Given the description of an element on the screen output the (x, y) to click on. 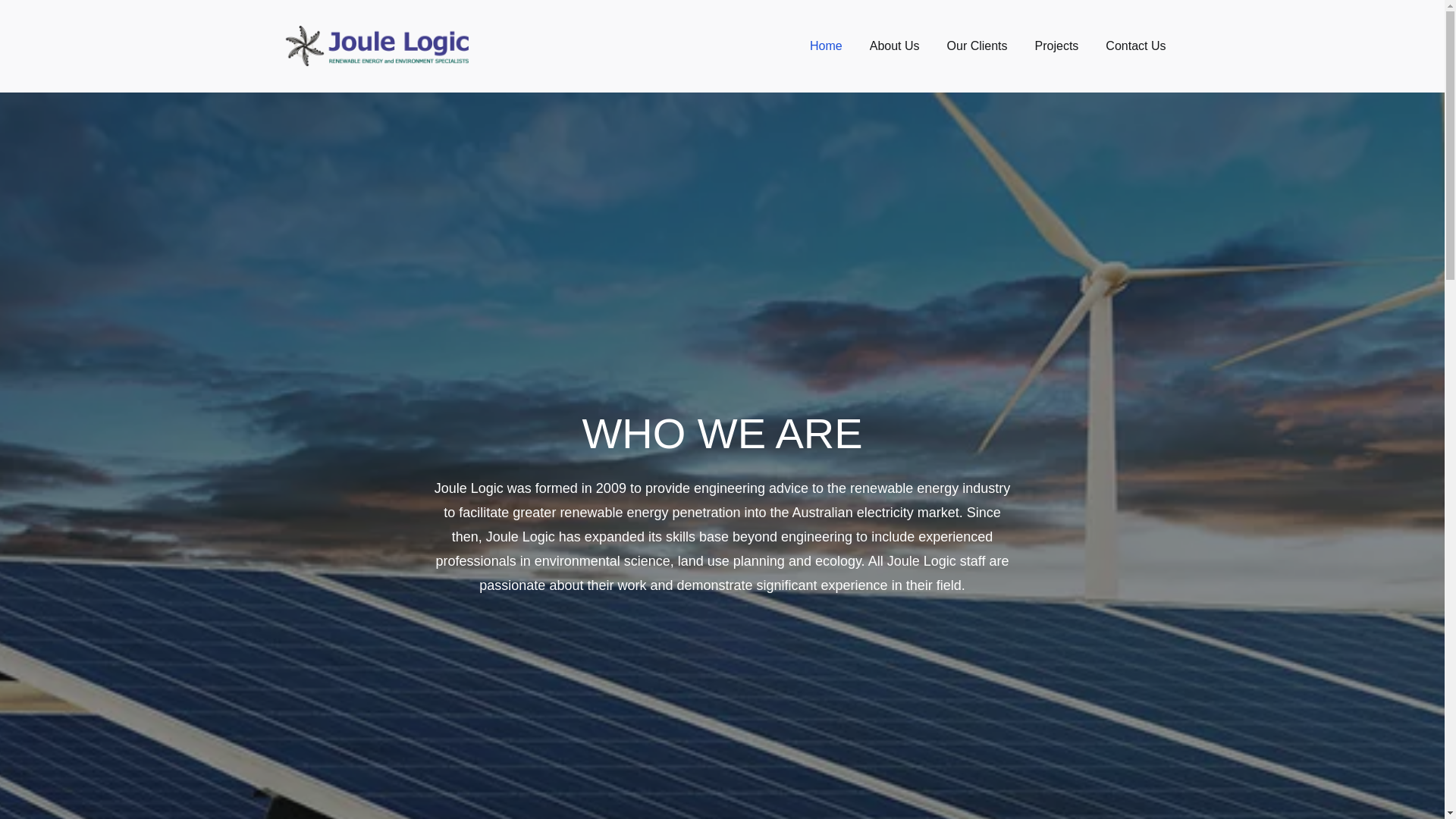
Our Clients Element type: text (977, 45)
Home Element type: text (825, 45)
Projects Element type: text (1057, 45)
Contact Us Element type: text (1135, 45)
About Us Element type: text (894, 45)
